Given the description of an element on the screen output the (x, y) to click on. 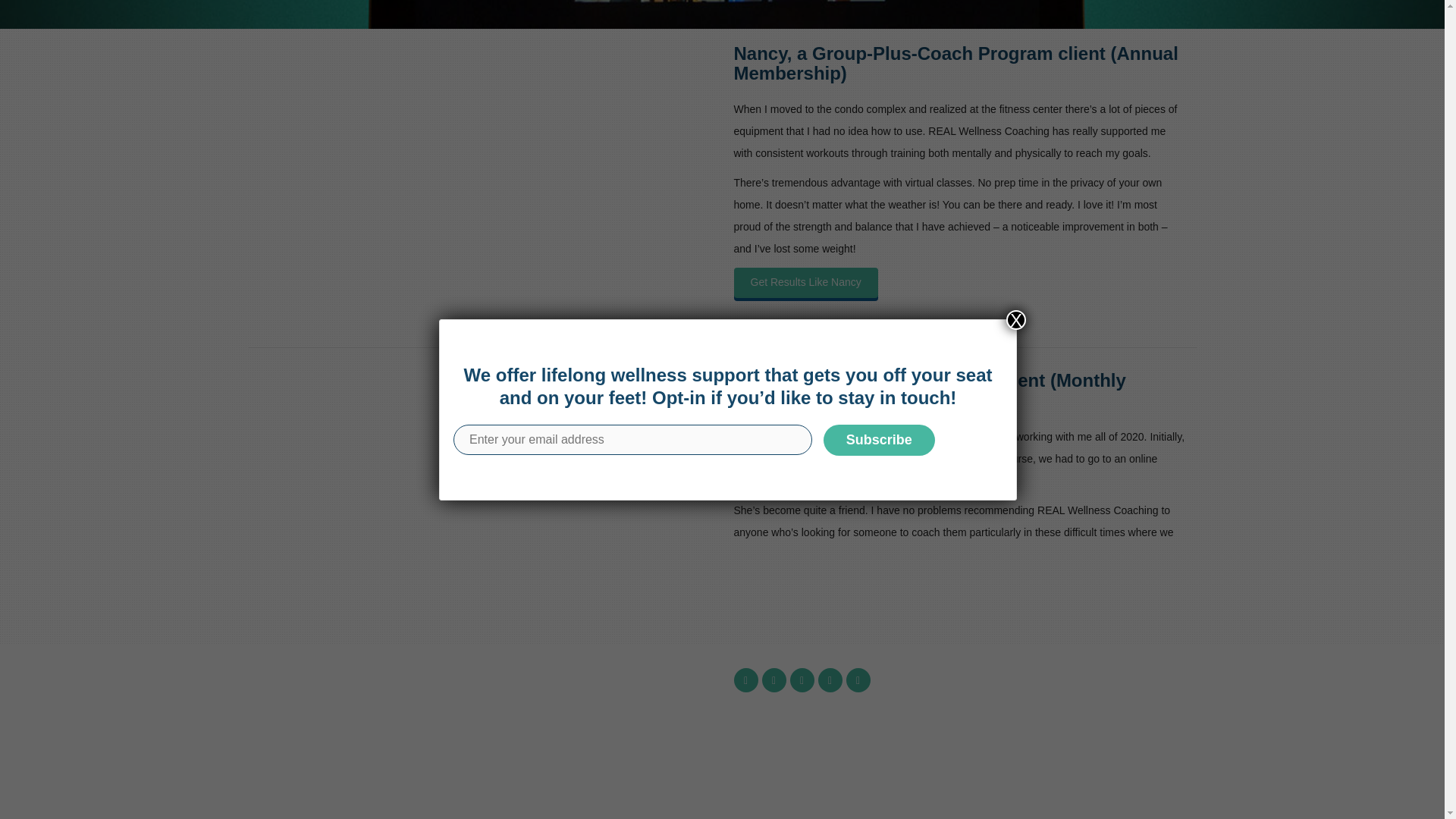
Get Results Like Nancy (805, 282)
Subscribe (879, 153)
Subscribe (642, 723)
Subscribe (879, 153)
X (1016, 33)
